Given the description of an element on the screen output the (x, y) to click on. 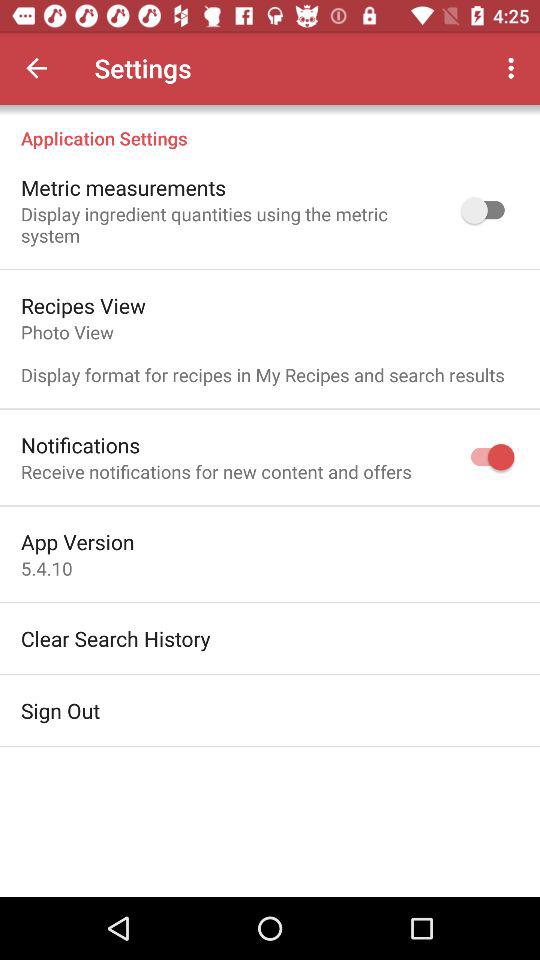
launch icon above the application settings item (513, 67)
